Given the description of an element on the screen output the (x, y) to click on. 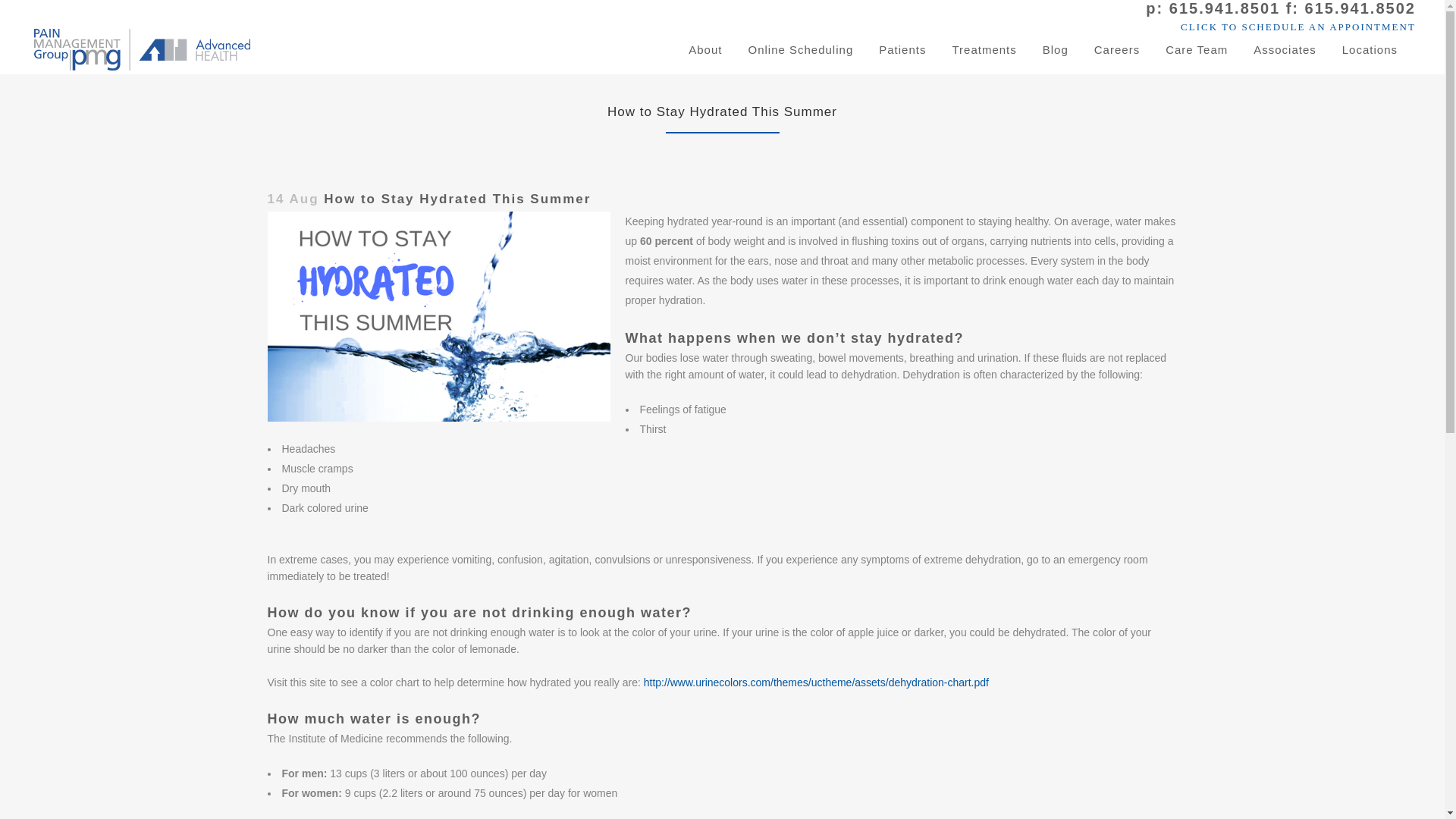
Locations (1369, 49)
Associates (1284, 49)
Careers (1117, 49)
Patients (902, 49)
Treatments (984, 49)
Online Scheduling (800, 49)
About (705, 49)
Care Team (1196, 49)
Blog (1055, 49)
